Given the description of an element on the screen output the (x, y) to click on. 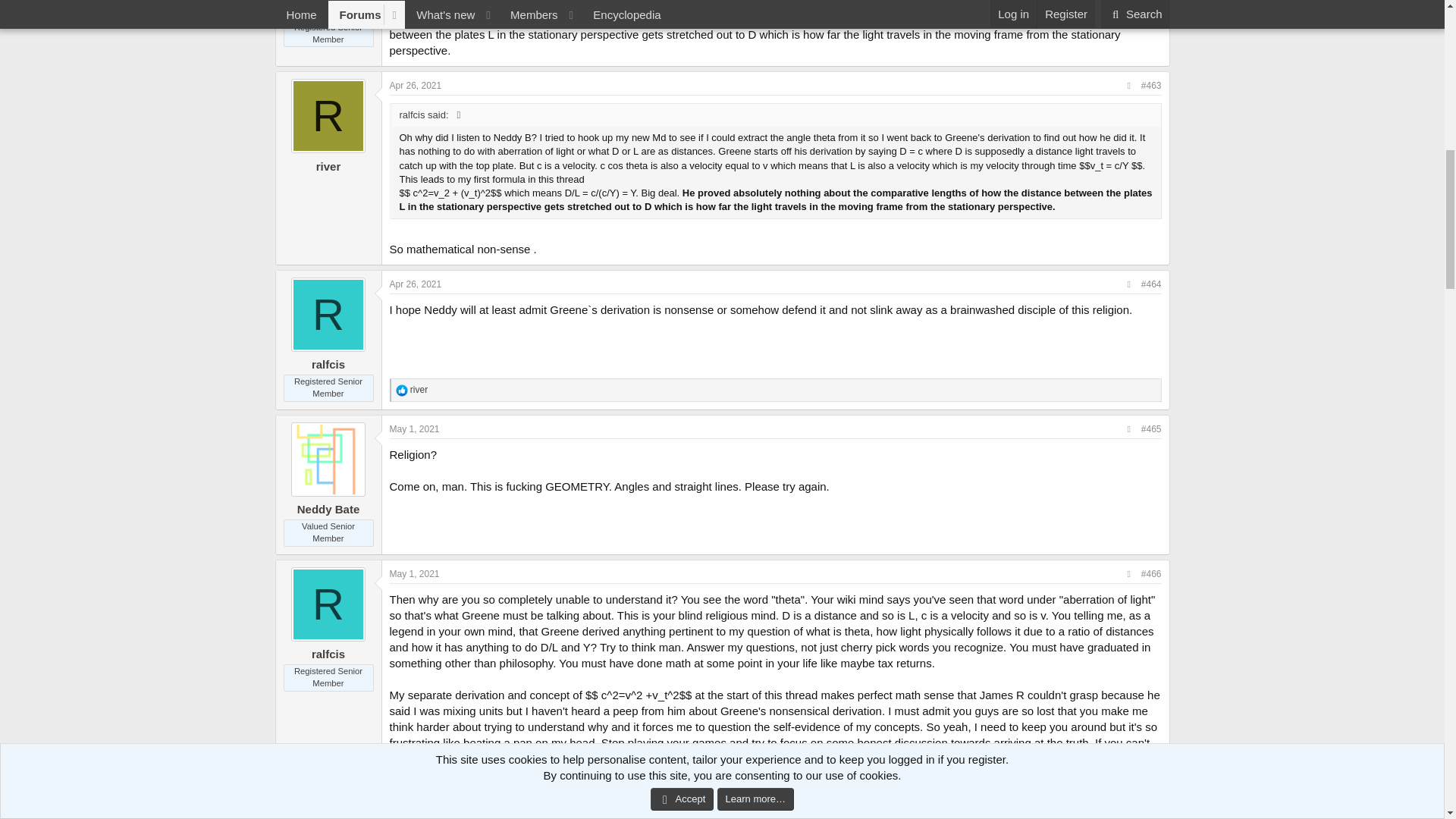
Like (401, 390)
Apr 26, 2021 at 12:08 AM (416, 85)
May 1, 2021 at 12:52 PM (414, 573)
Apr 26, 2021 at 3:05 AM (416, 284)
May 1, 2021 at 6:05 AM (414, 429)
May 1, 2021 at 7:17 PM (414, 809)
